Given the description of an element on the screen output the (x, y) to click on. 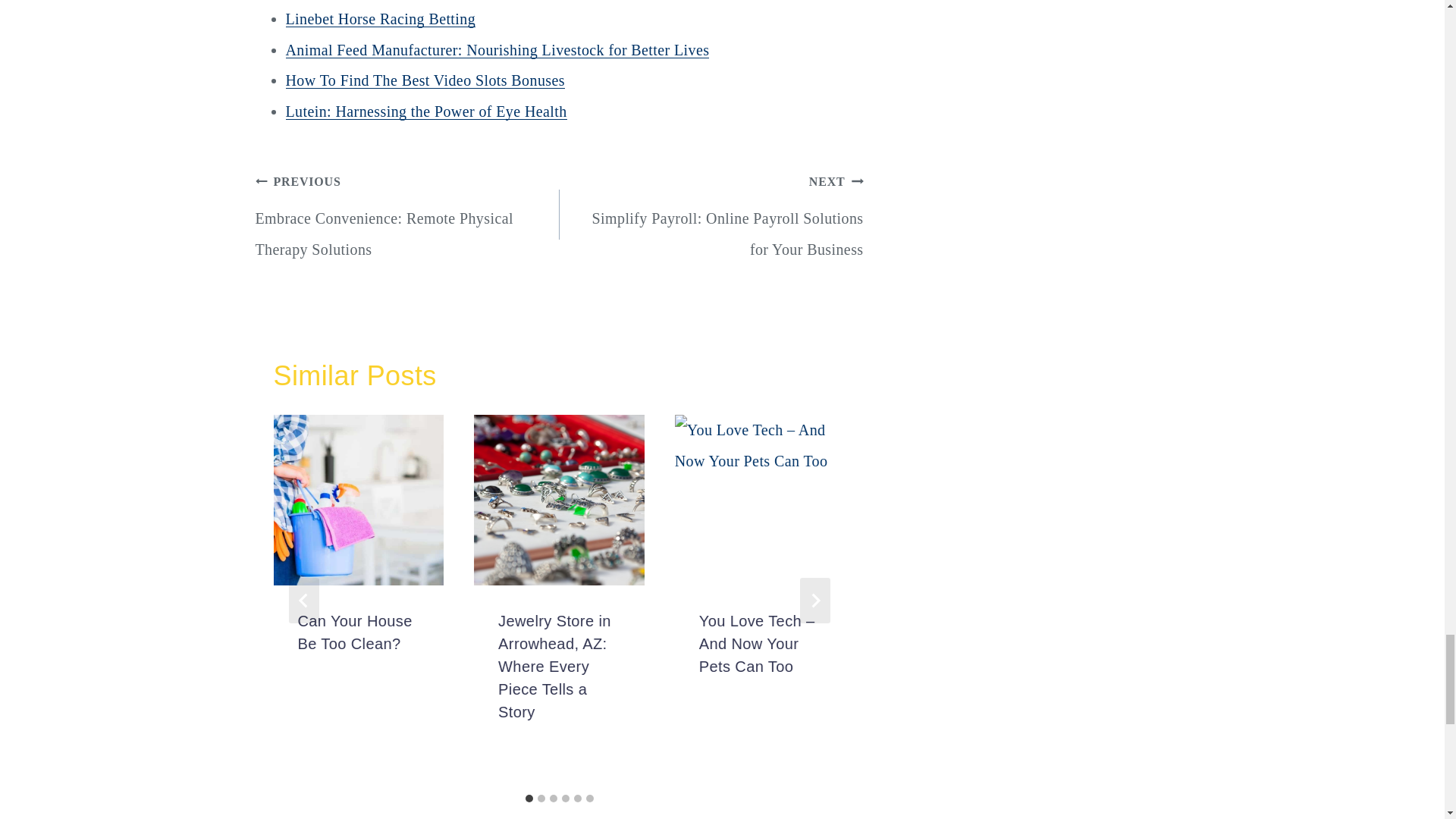
How To Find The Best Video Slots Bonuses (424, 80)
Linebet Horse Racing Betting (380, 18)
Lutein: Harnessing the Power of Eye Health (425, 111)
